Given the description of an element on the screen output the (x, y) to click on. 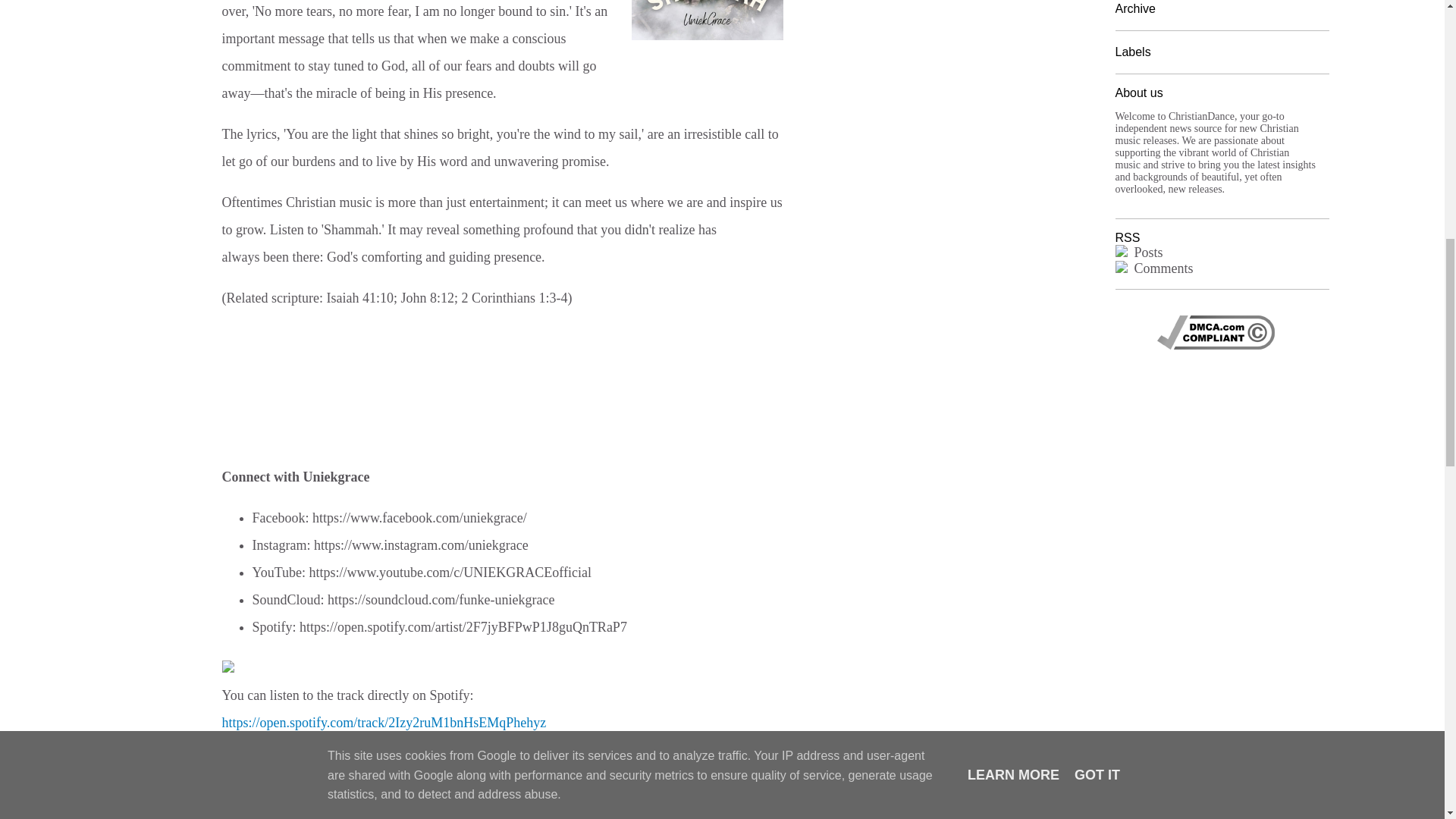
Uniekgrace - Shammah (706, 20)
